Given the description of an element on the screen output the (x, y) to click on. 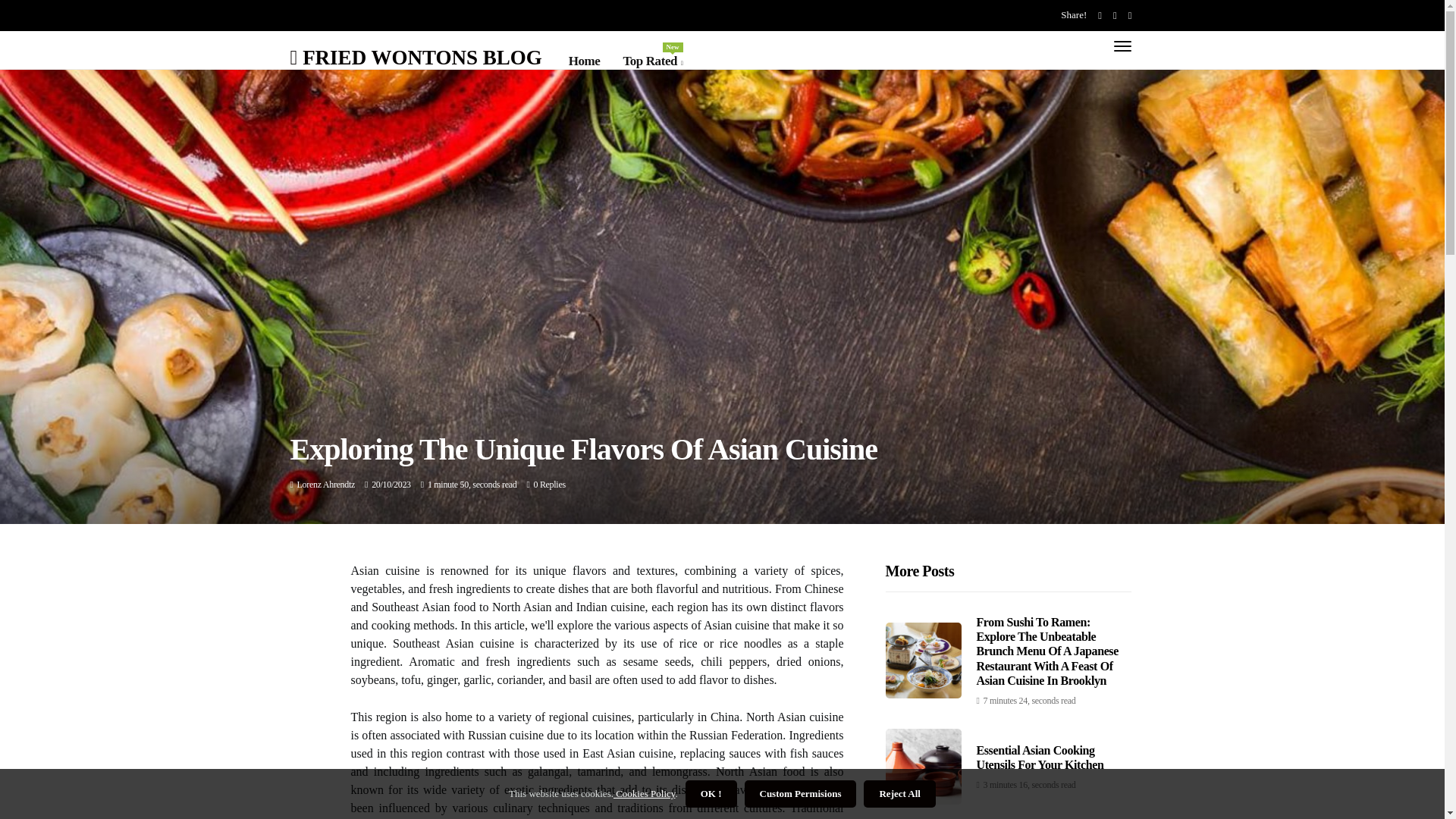
FRIED WONTONS BLOG (415, 56)
Lorenz Ahrendtz (326, 484)
0 Replies (548, 484)
Posts by Lorenz Ahrendtz (326, 484)
